Given the description of an element on the screen output the (x, y) to click on. 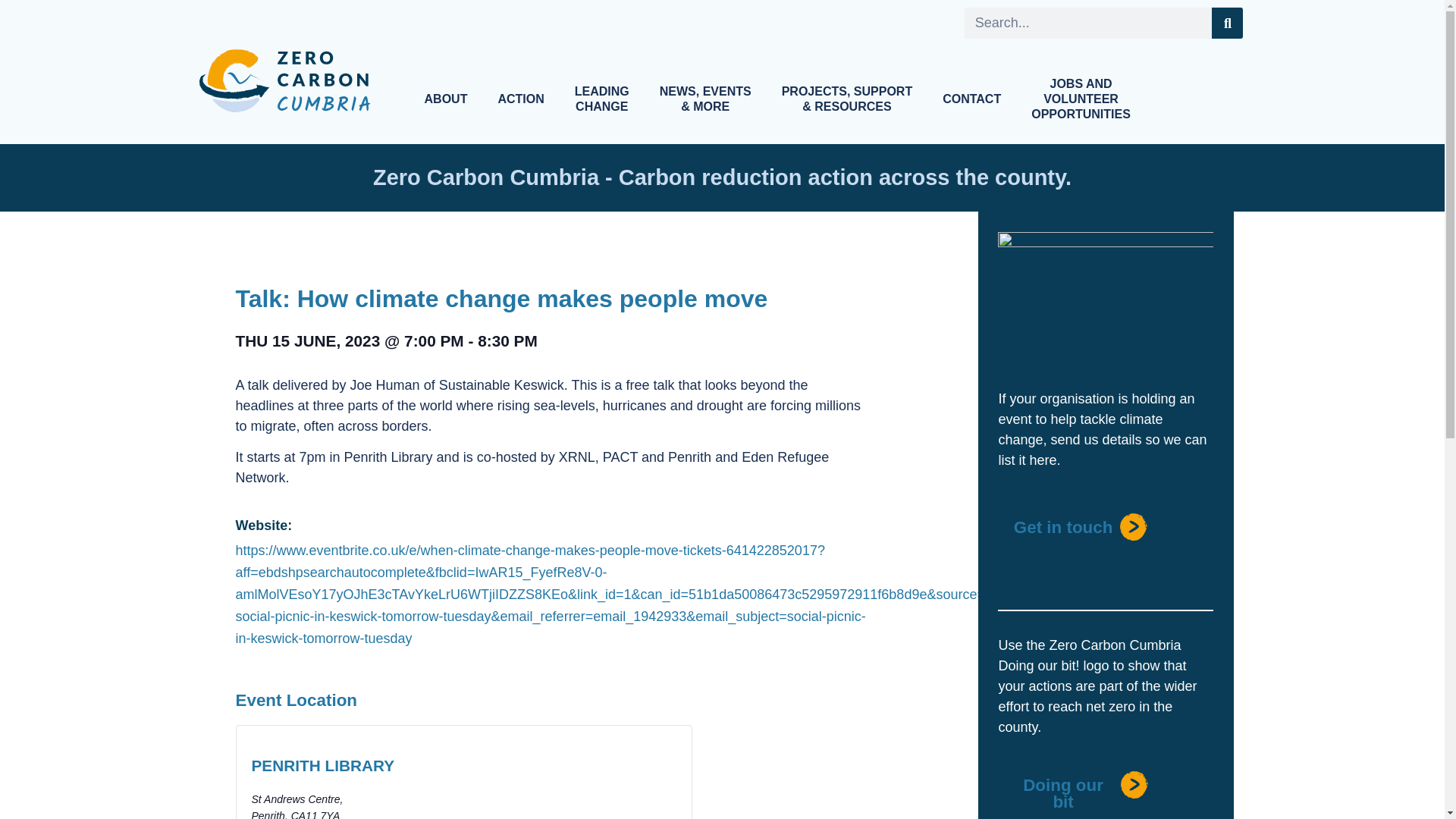
CONTACT (971, 98)
Google maps iframe displaying the address to Penrith Library (577, 772)
ACTION (520, 98)
ABOUT (446, 98)
